Given the description of an element on the screen output the (x, y) to click on. 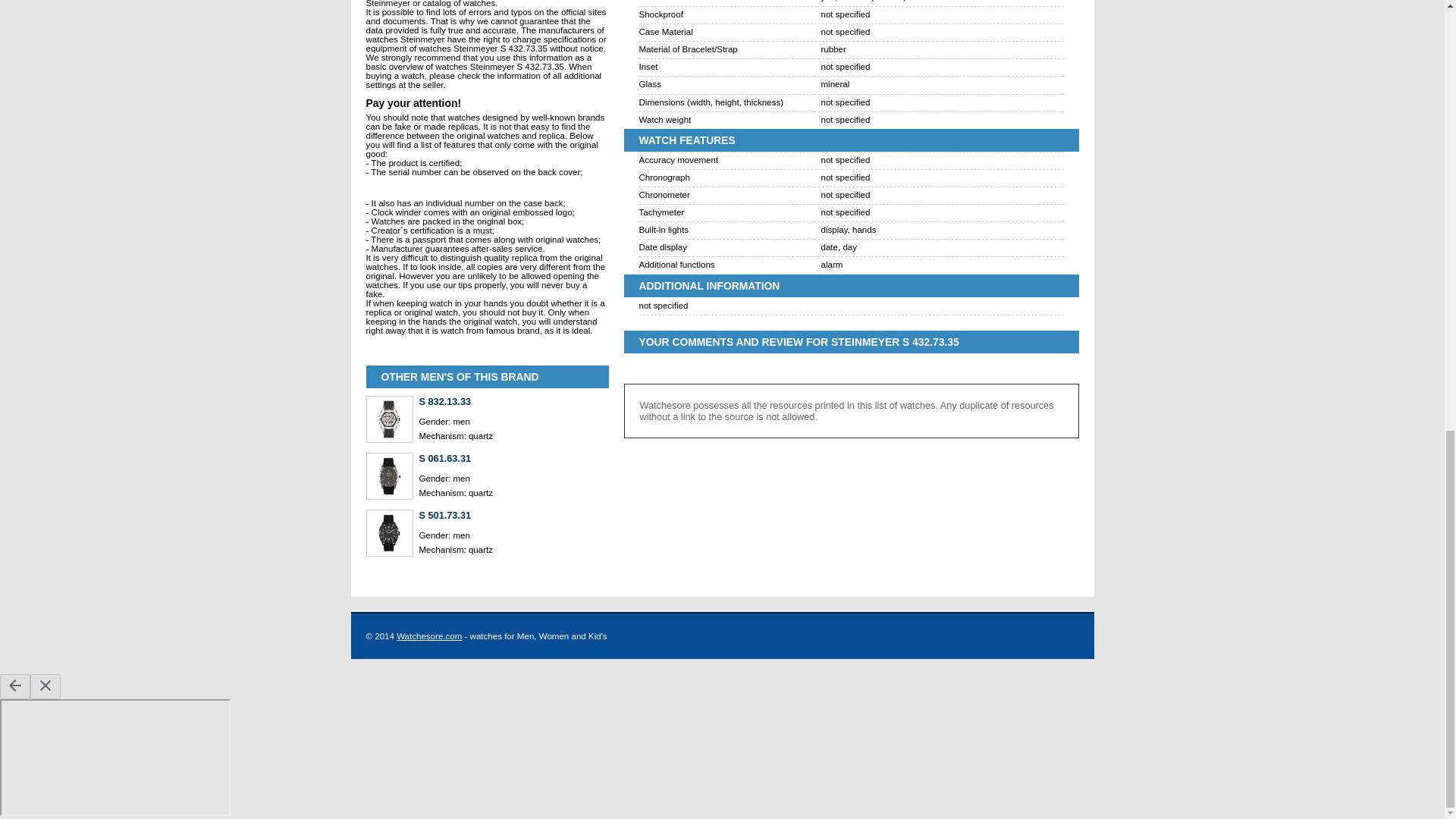
S 832.13.33 (513, 401)
Watchesore.com (428, 635)
S 501.73.31 (513, 514)
S 061.63.31 (513, 458)
